Given the description of an element on the screen output the (x, y) to click on. 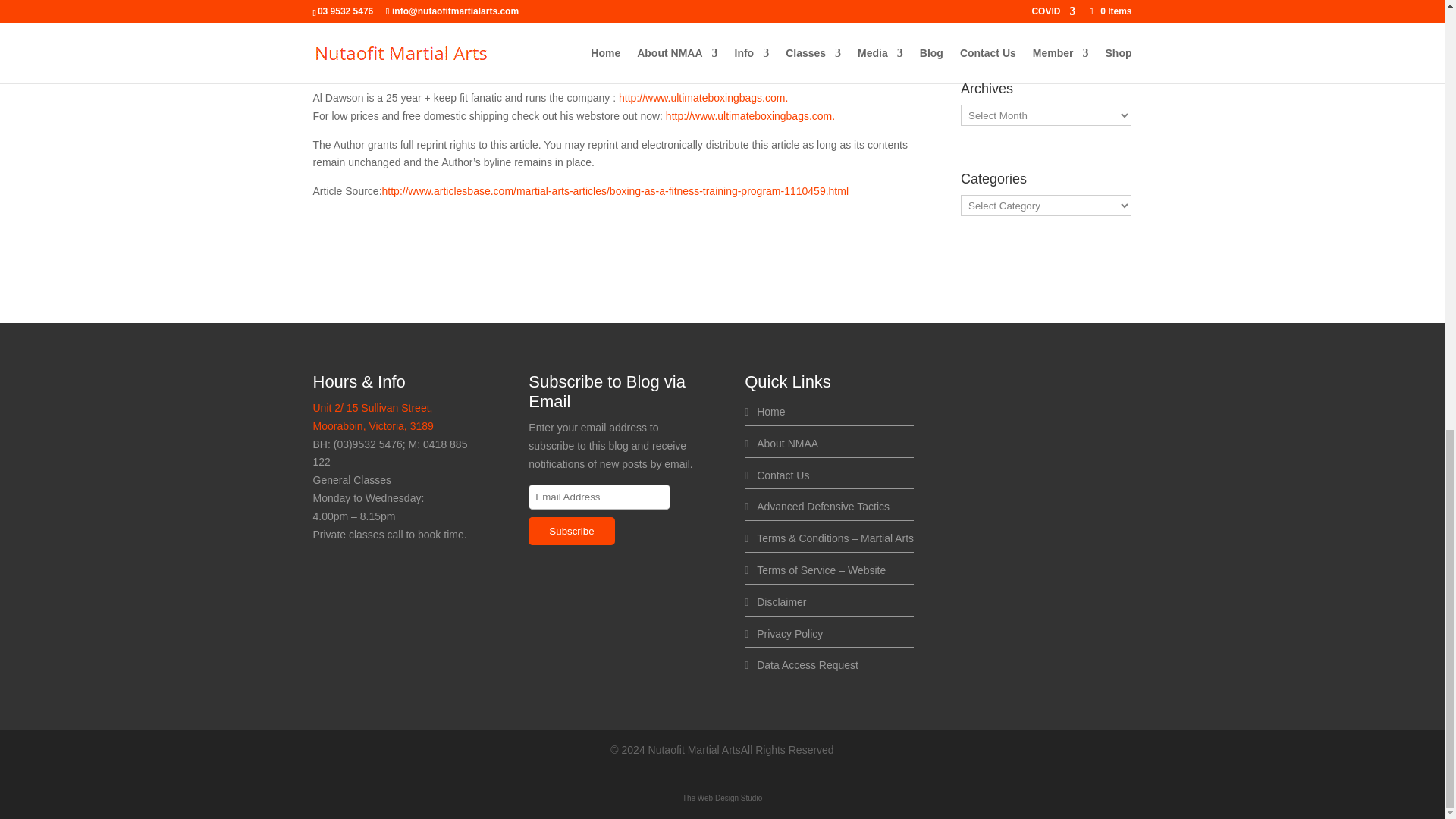
Boxing As A Fitness Training Program (614, 191)
Subscribe (571, 530)
